Given the description of an element on the screen output the (x, y) to click on. 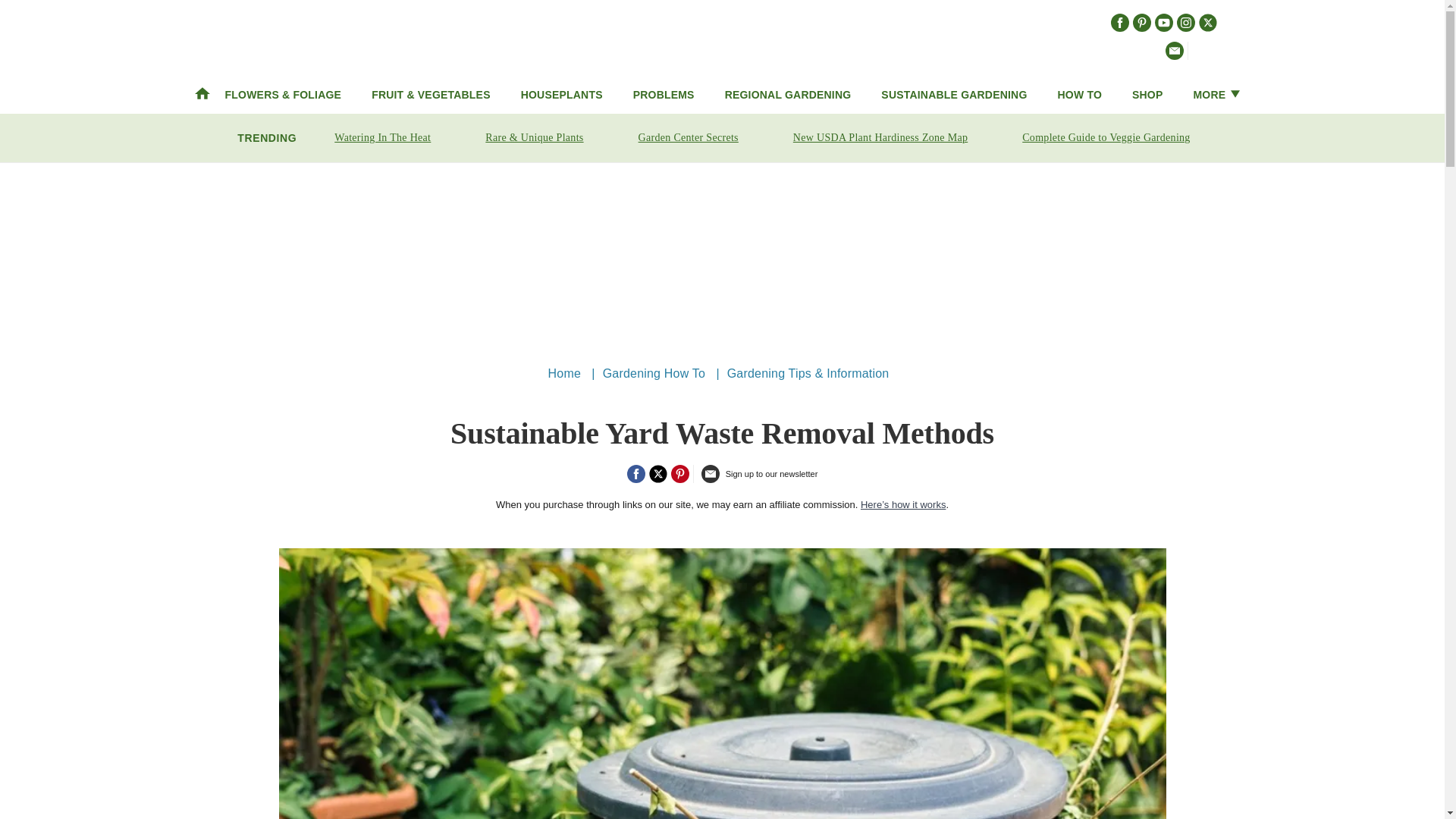
PROBLEMS (663, 94)
SUSTAINABLE GARDENING (953, 94)
REGIONAL GARDENING (788, 94)
HOUSEPLANTS (561, 94)
HOW TO (1080, 94)
